Given the description of an element on the screen output the (x, y) to click on. 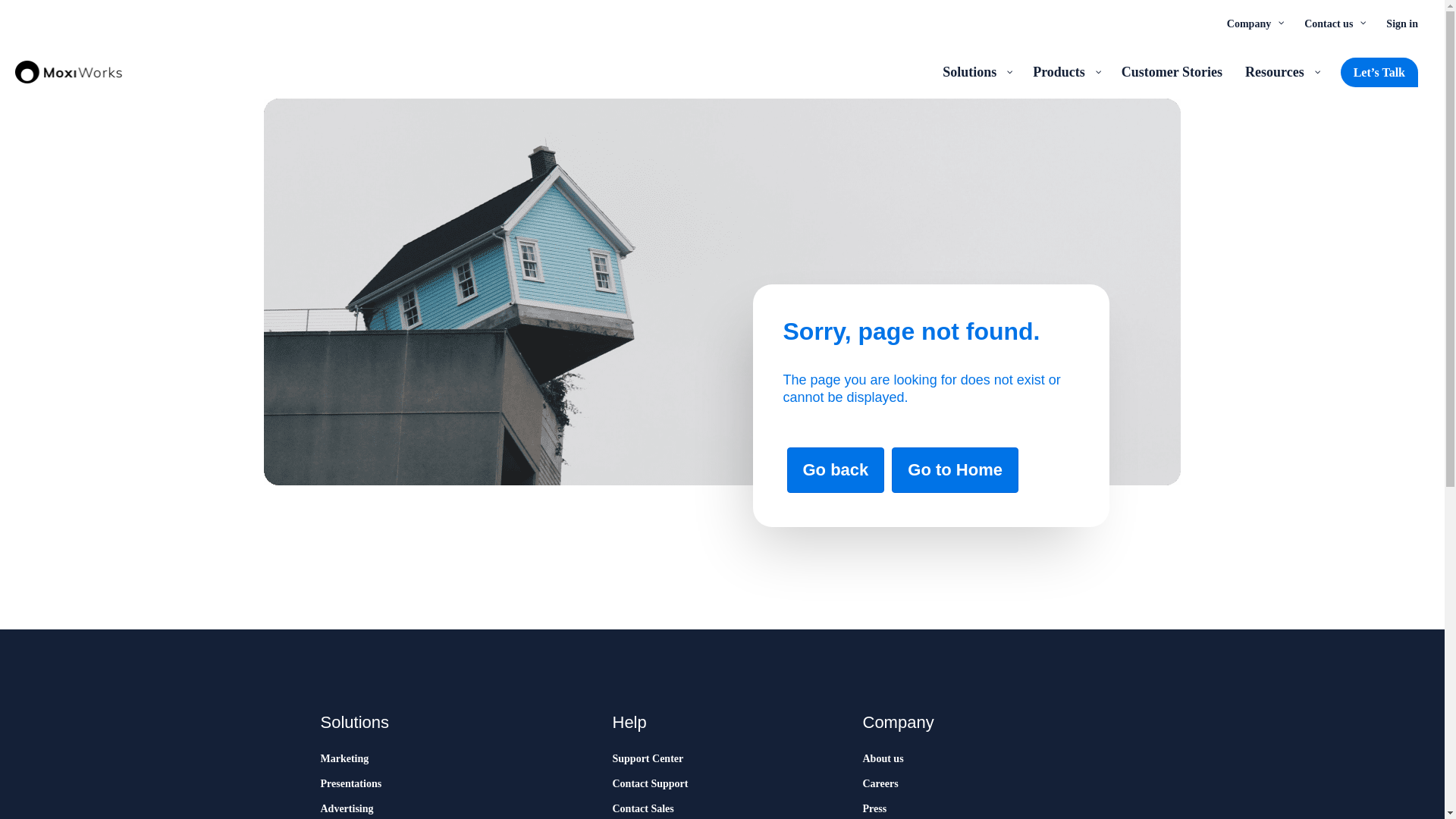
Sign in (1401, 22)
Products (1065, 72)
Solutions (976, 72)
Contact us (1333, 22)
Company (1253, 22)
